Given the description of an element on the screen output the (x, y) to click on. 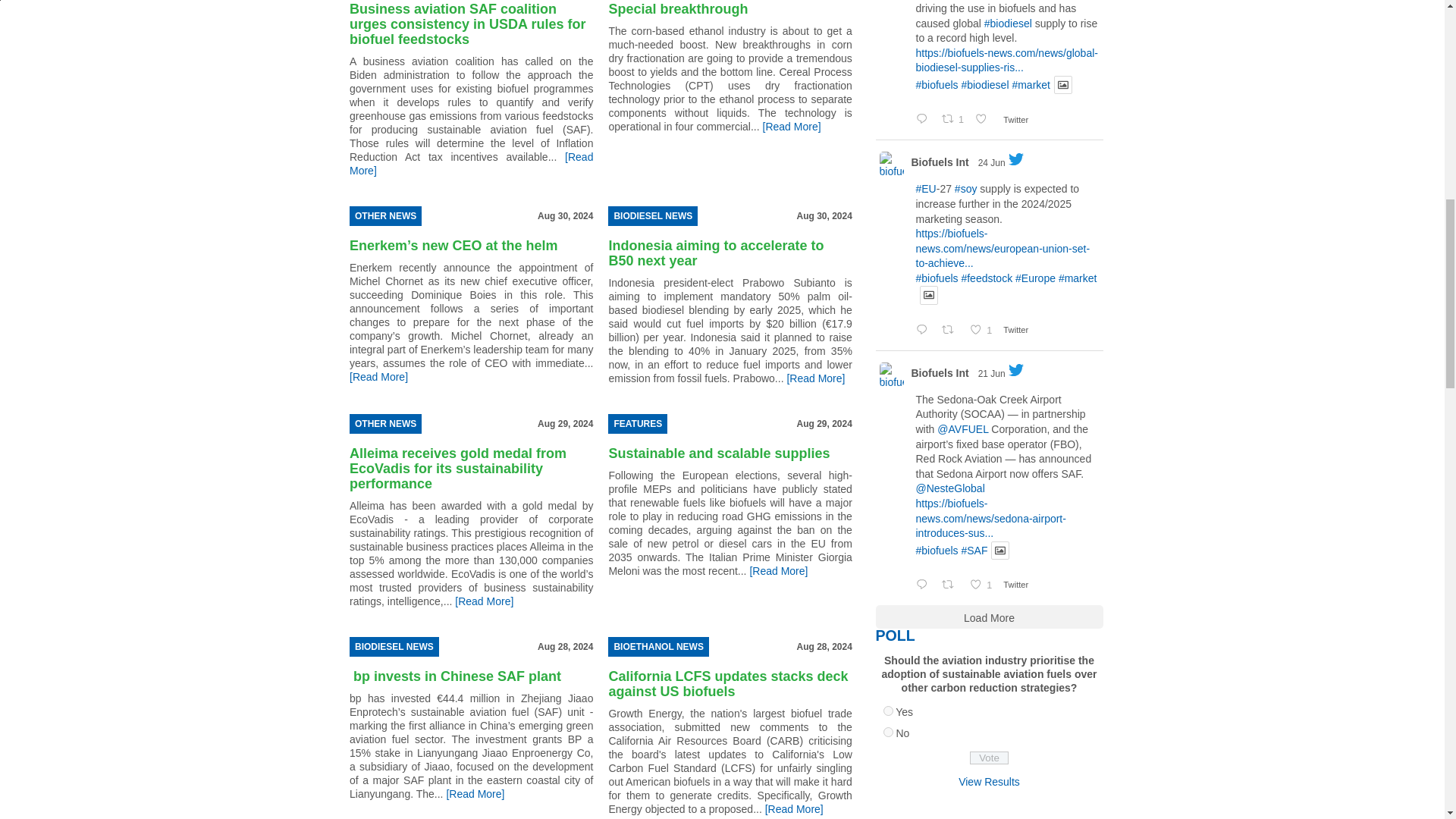
21 (887, 732)
20 (887, 710)
View Results Of This Poll (989, 781)
   Vote    (989, 757)
